Given the description of an element on the screen output the (x, y) to click on. 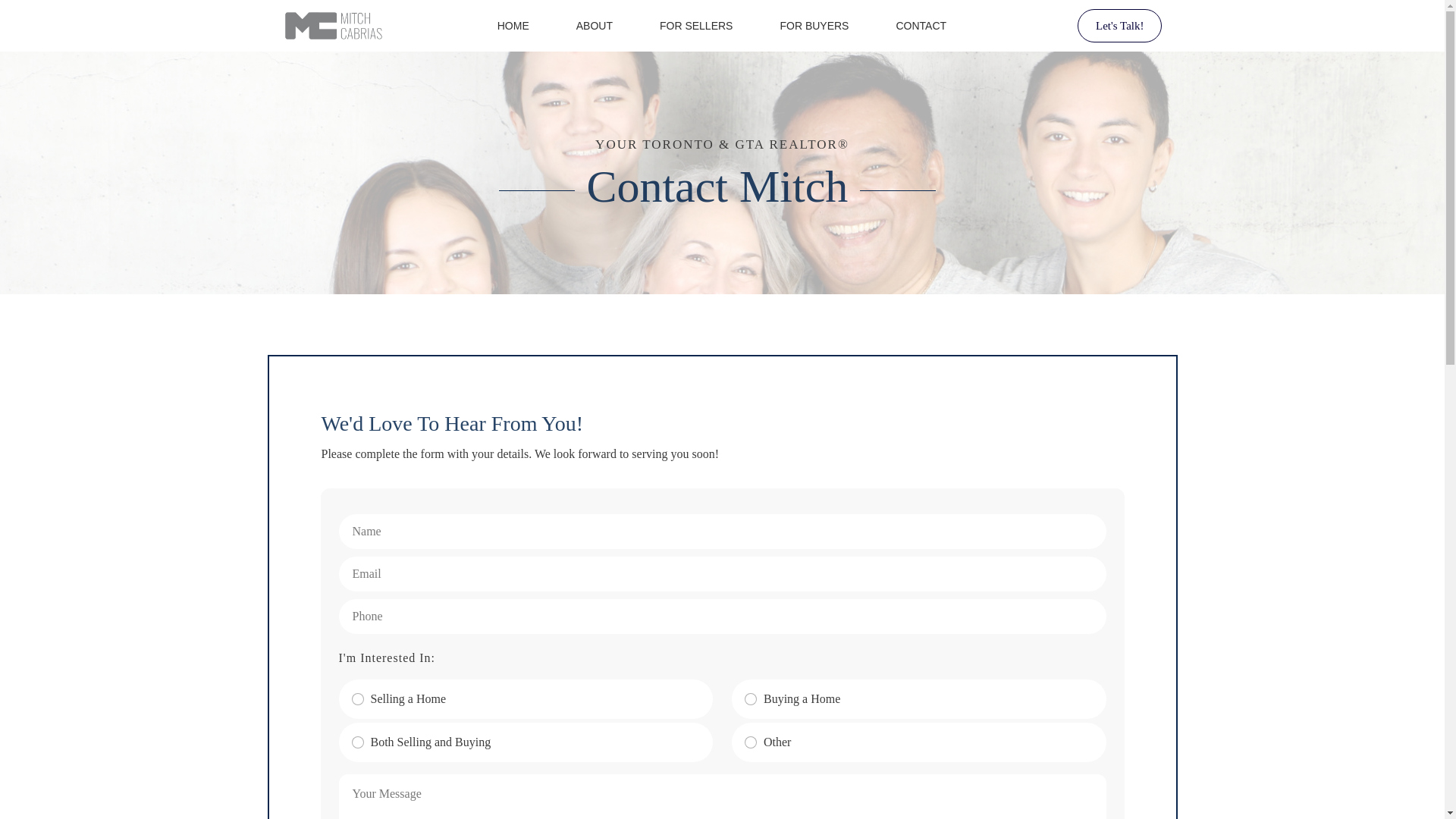
FOR SELLERS (695, 25)
ABOUT (594, 25)
FOR BUYERS (813, 25)
HOME (513, 25)
CONTACT (920, 25)
Let'S Talk! (1119, 25)
